Given the description of an element on the screen output the (x, y) to click on. 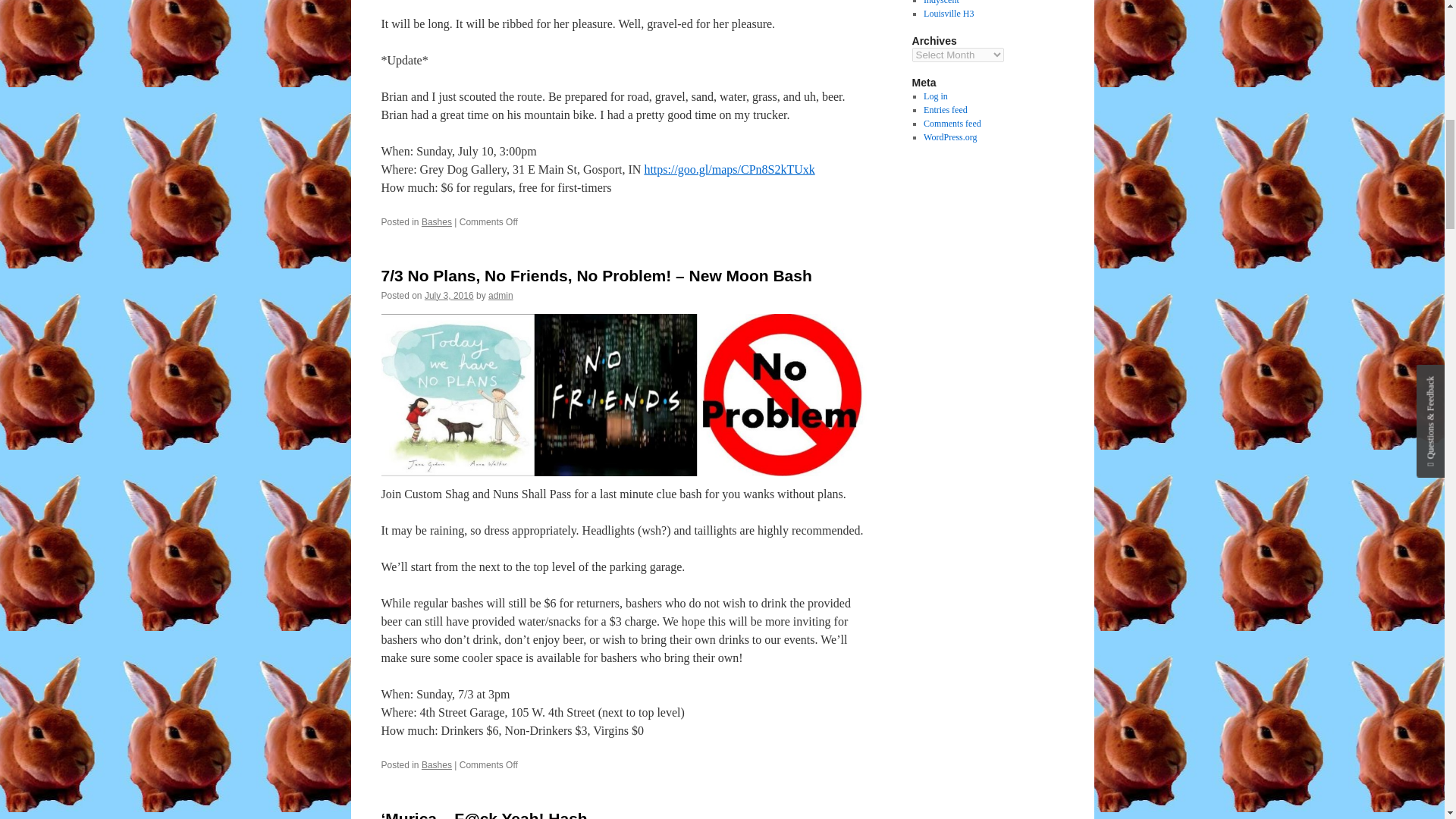
10:53 am (449, 295)
Bashes (436, 765)
Bashes (436, 222)
admin (500, 295)
View all posts by admin (500, 295)
July 3, 2016 (449, 295)
